Given the description of an element on the screen output the (x, y) to click on. 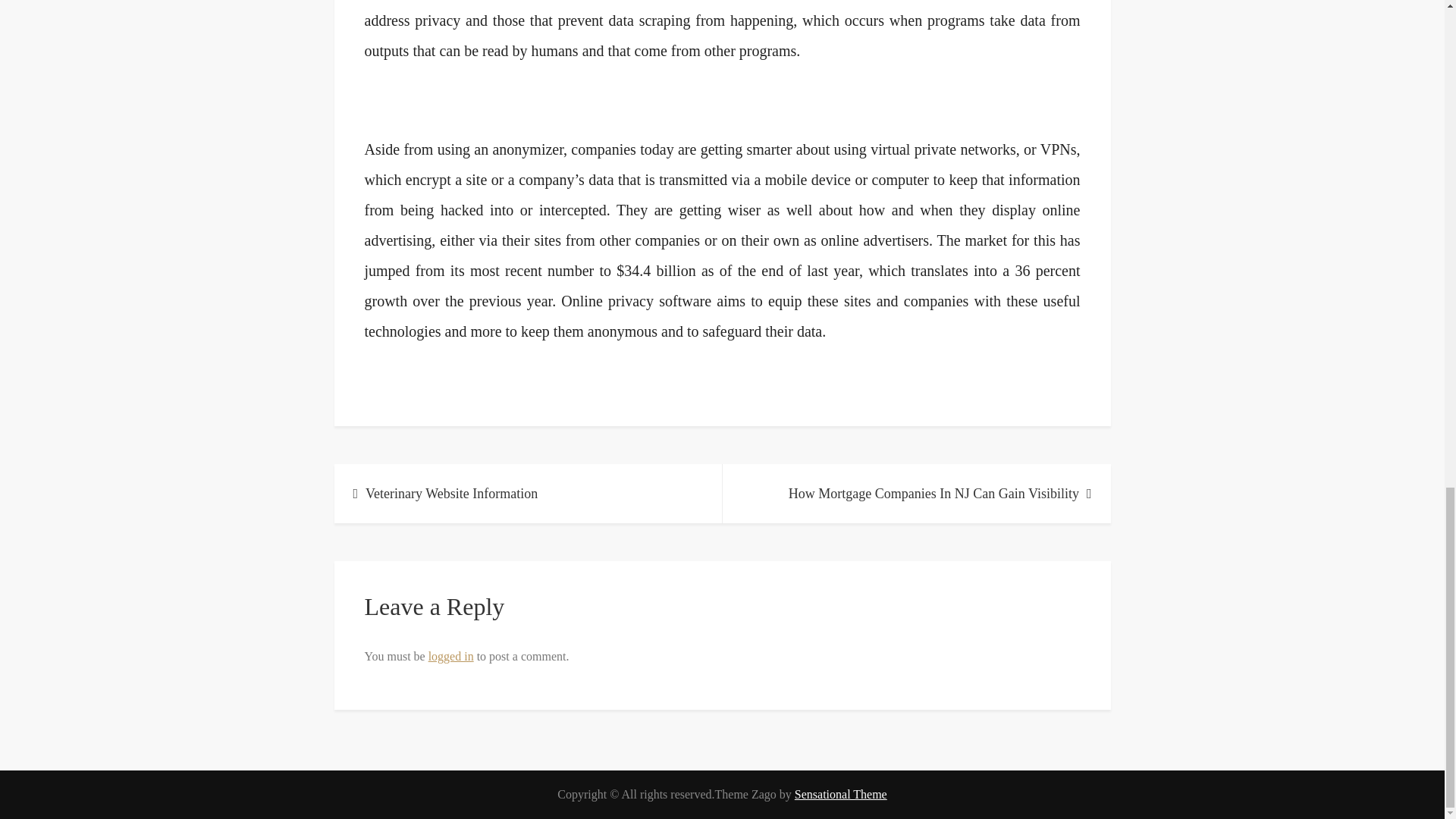
Veterinary Website Information (527, 493)
How Mortgage Companies In NJ Can Gain Visibility (915, 493)
logged in (451, 656)
